Given the description of an element on the screen output the (x, y) to click on. 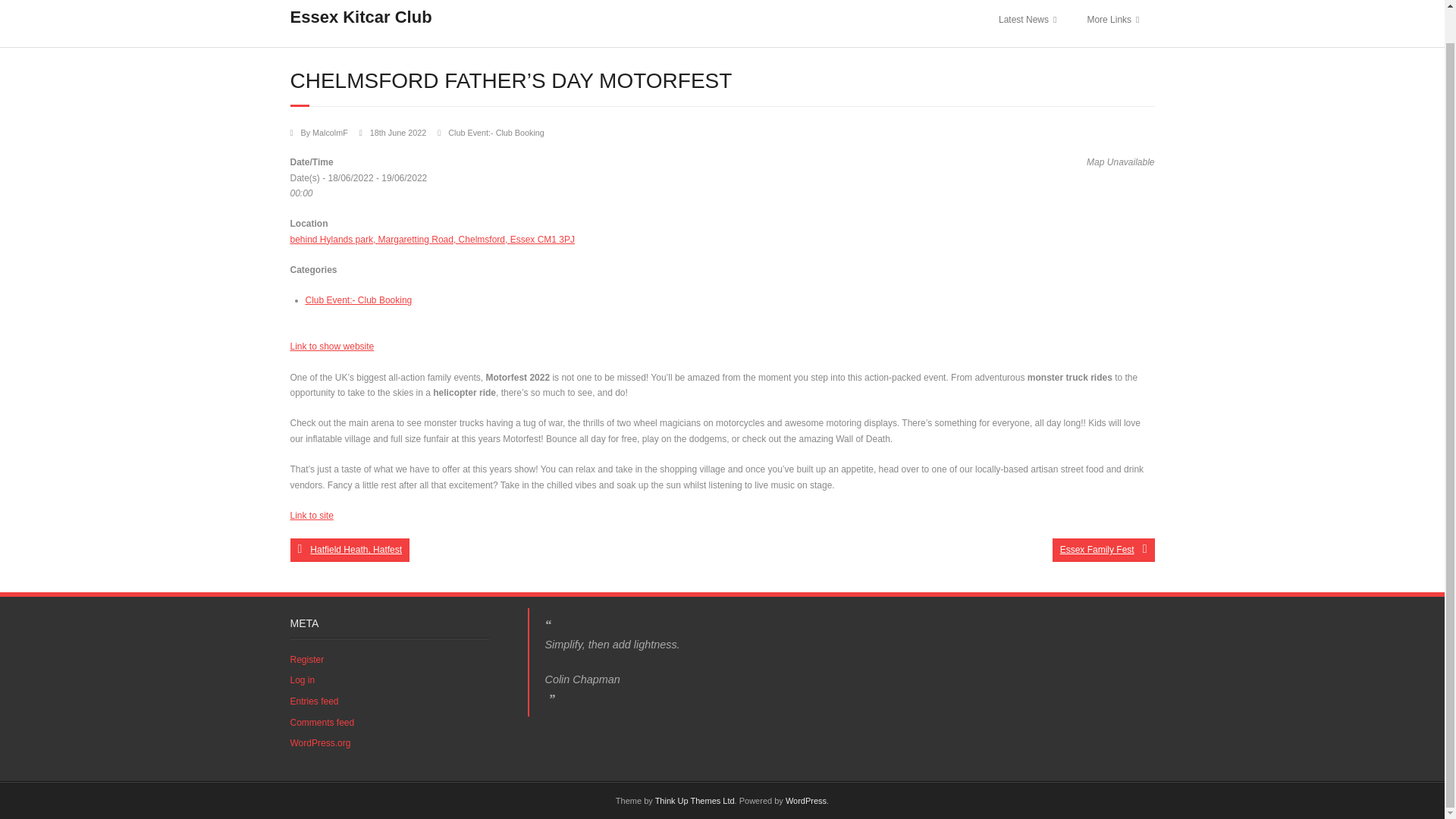
View all posts by MalcolmF (330, 132)
Register (306, 660)
Log in (301, 680)
Hatfield Heath, Hatfest (349, 549)
Comments feed (321, 723)
View all posts in Club Event:- Club Booking (496, 132)
Latest News (1027, 22)
Link to show website (331, 346)
WordPress (806, 800)
18th June 2022 (397, 132)
More Links (1112, 22)
Entries feed (313, 701)
MalcolmF (330, 132)
Think Up Themes Ltd (695, 800)
Link to site (311, 515)
